Given the description of an element on the screen output the (x, y) to click on. 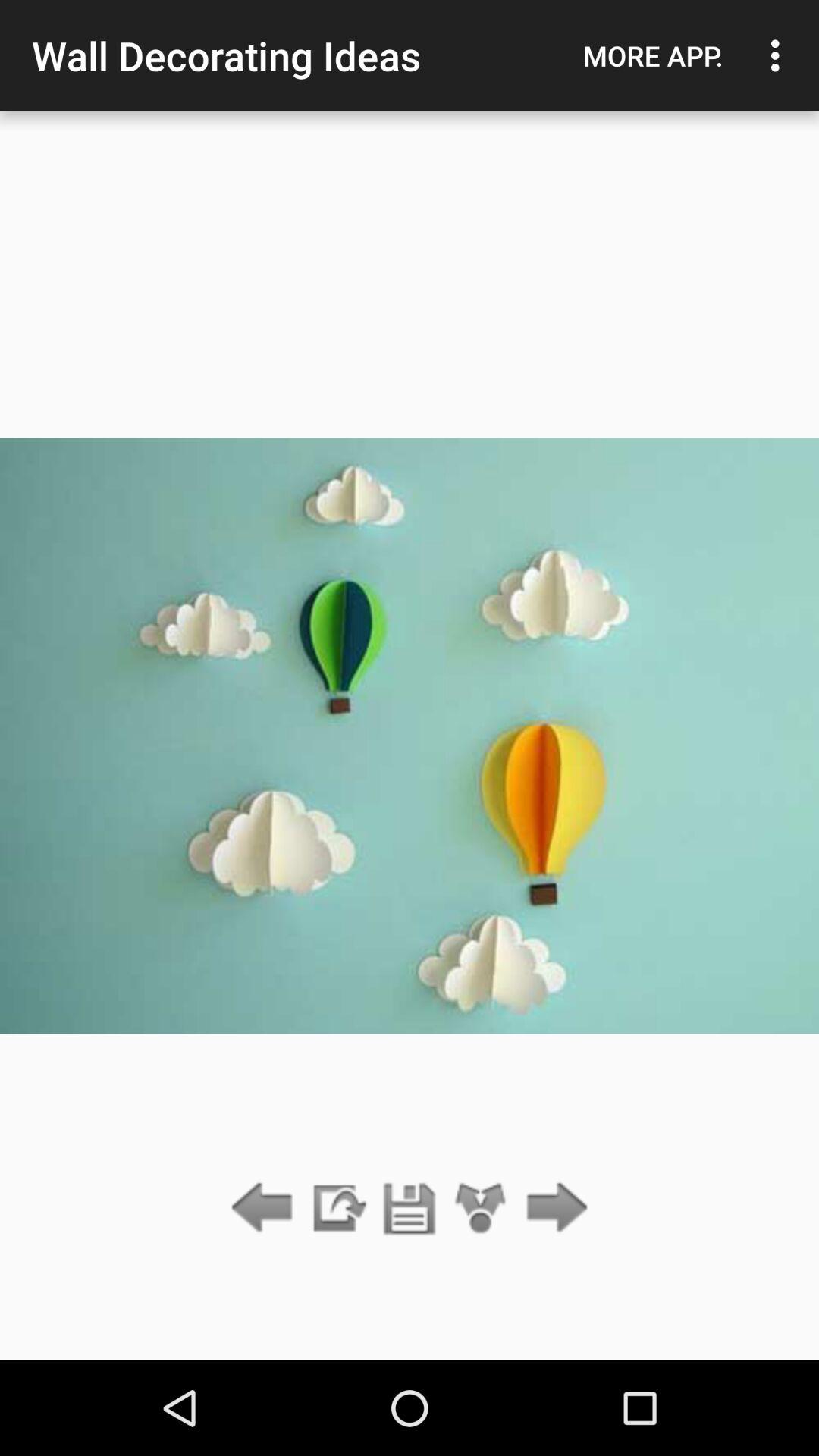
press the item below the wall decorating ideas item (337, 1208)
